Given the description of an element on the screen output the (x, y) to click on. 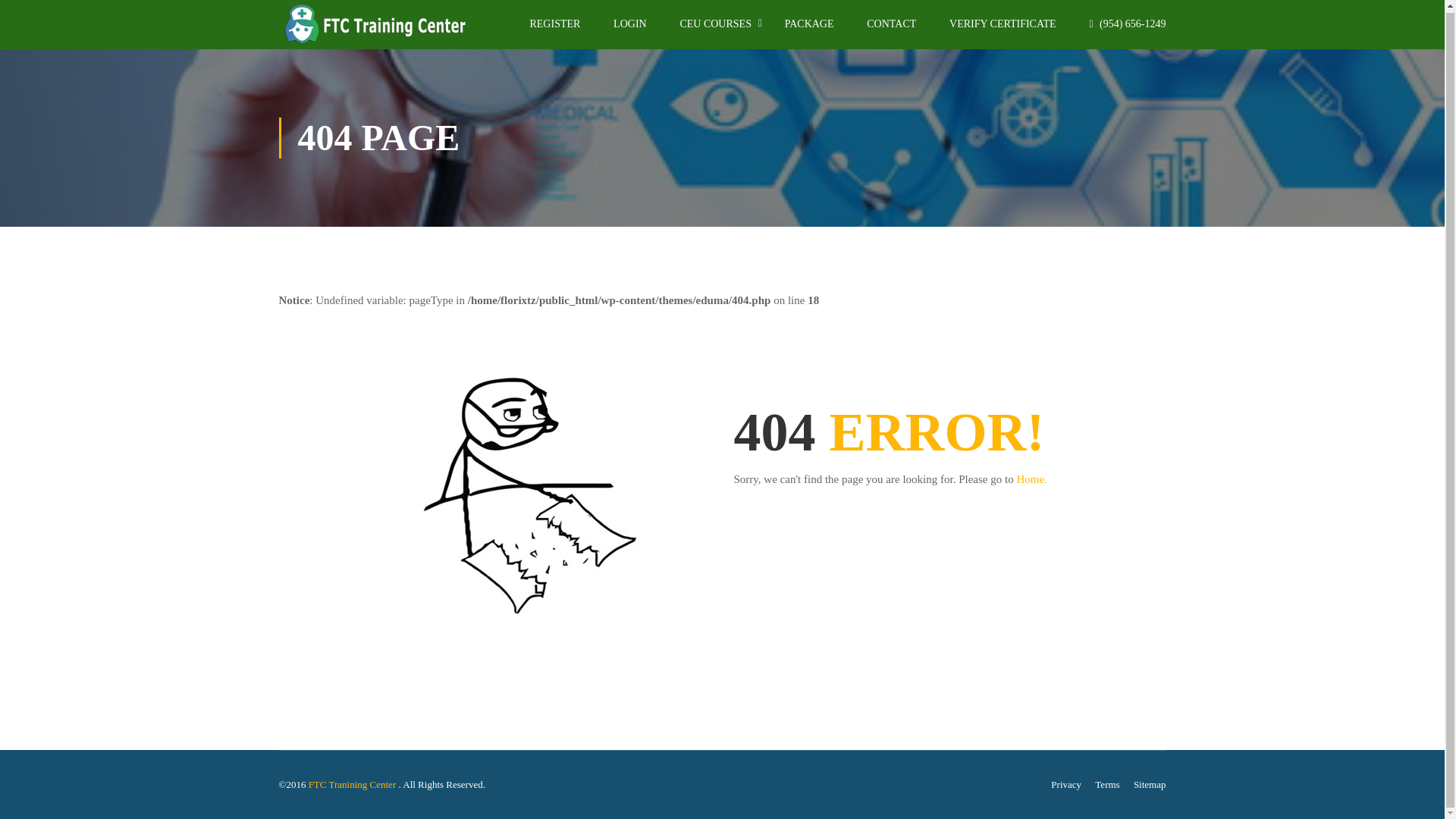
VERIFY CERTIFICATE (1002, 31)
CONTACT (891, 31)
LOGIN (630, 31)
Terms (1106, 784)
PACKAGE (809, 31)
Sitemap (1150, 784)
Home. (1031, 479)
REGISTER (554, 31)
FTC Tranining Center (353, 784)
CEU COURSES (715, 31)
Privacy (1066, 784)
